Given the description of an element on the screen output the (x, y) to click on. 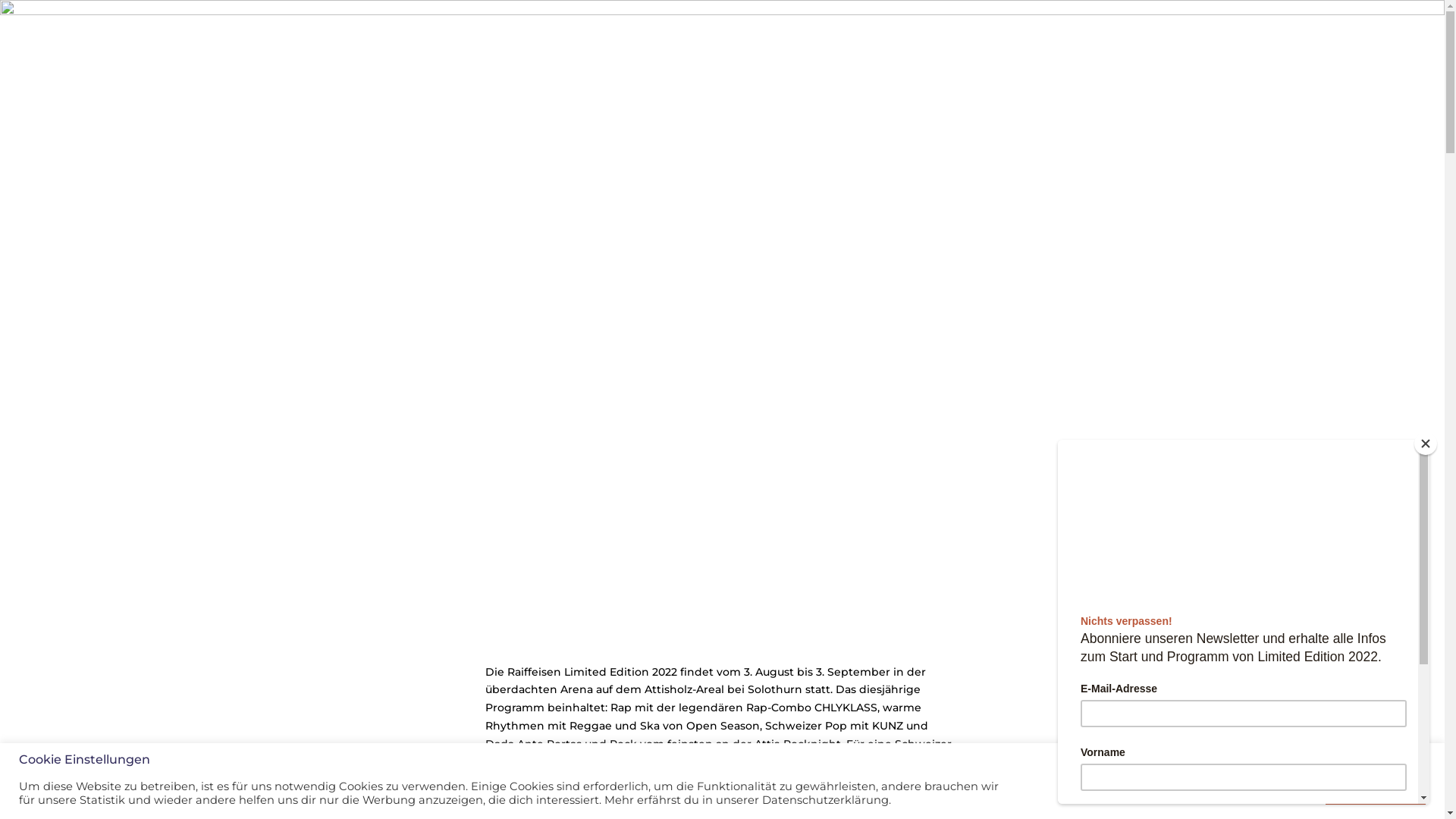
Alle Akzeptieren Element type: text (1375, 792)
Header Element type: hover (722, 301)
Cookie Einstellungen Element type: text (1257, 792)
